Given the description of an element on the screen output the (x, y) to click on. 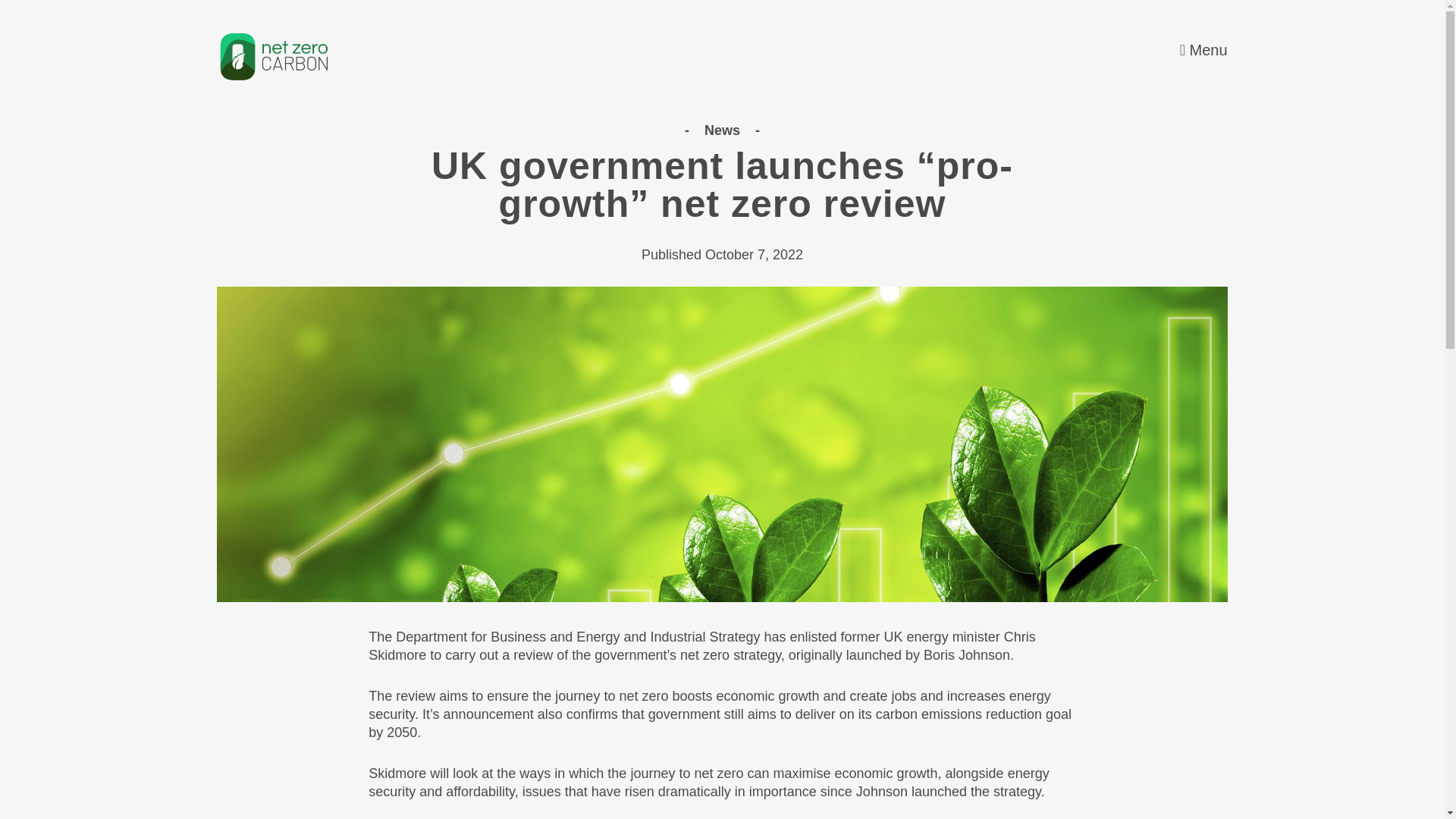
Net Zero Carbon (273, 56)
News (724, 130)
